Given the description of an element on the screen output the (x, y) to click on. 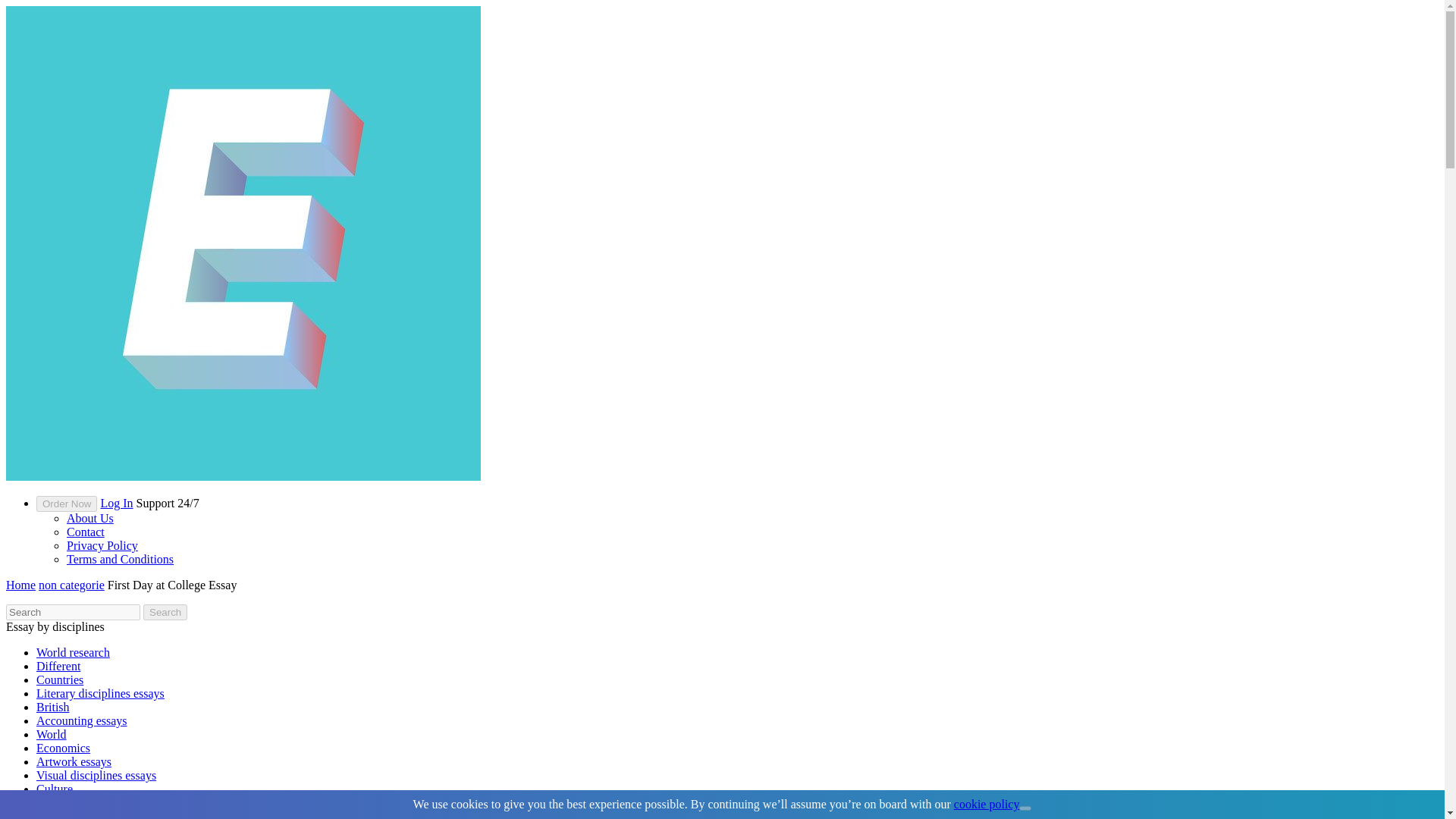
Culture (54, 788)
Home (19, 584)
Log In (116, 502)
Order Now (66, 503)
About Us (89, 517)
World research (73, 652)
Pets (46, 802)
Literary disciplines essays (100, 693)
World (51, 734)
Accounting essays (82, 720)
